Given the description of an element on the screen output the (x, y) to click on. 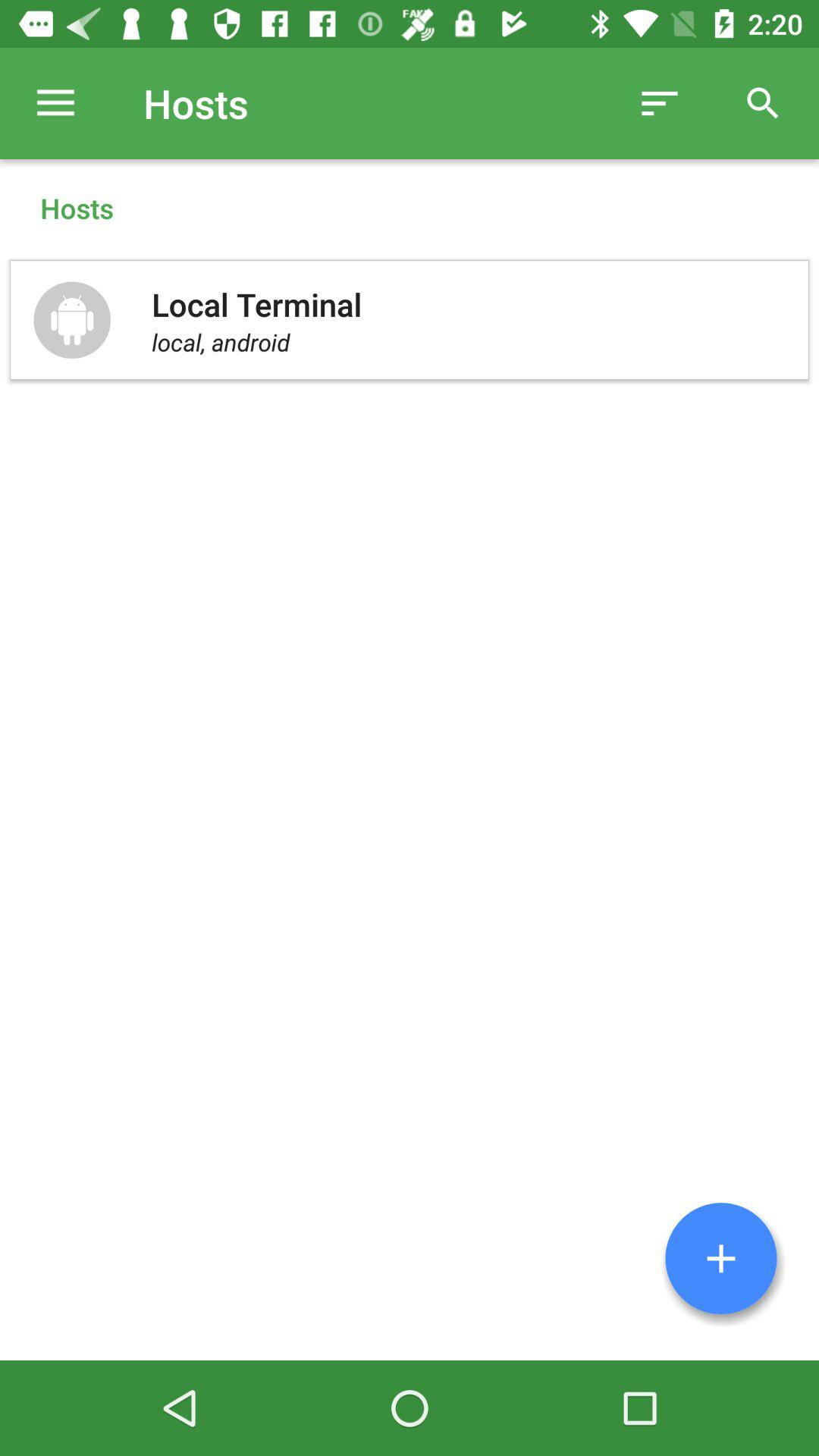
choose icon below local, android (721, 1258)
